Given the description of an element on the screen output the (x, y) to click on. 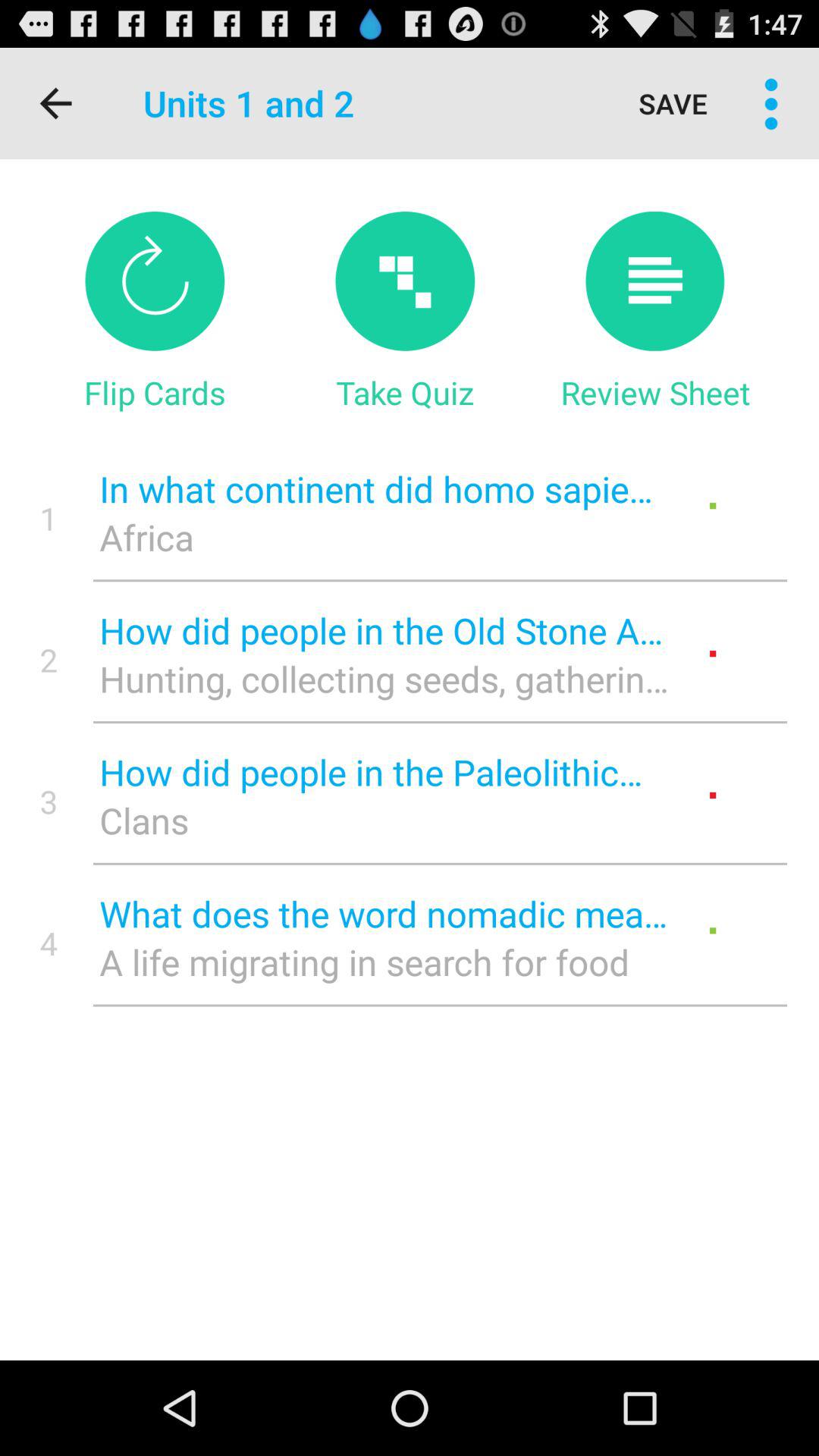
flip cards (154, 280)
